Given the description of an element on the screen output the (x, y) to click on. 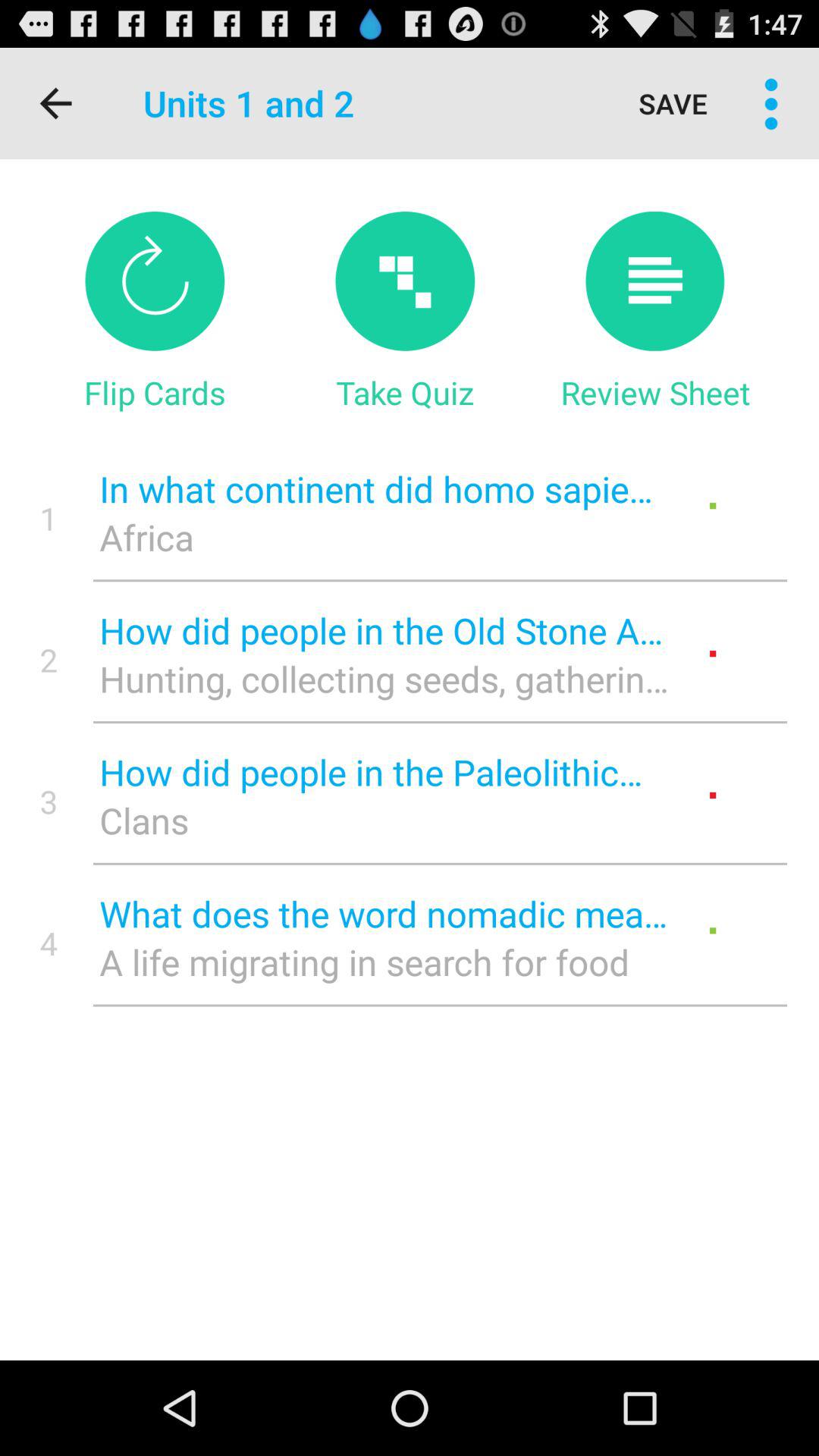
flip cards (154, 280)
